Given the description of an element on the screen output the (x, y) to click on. 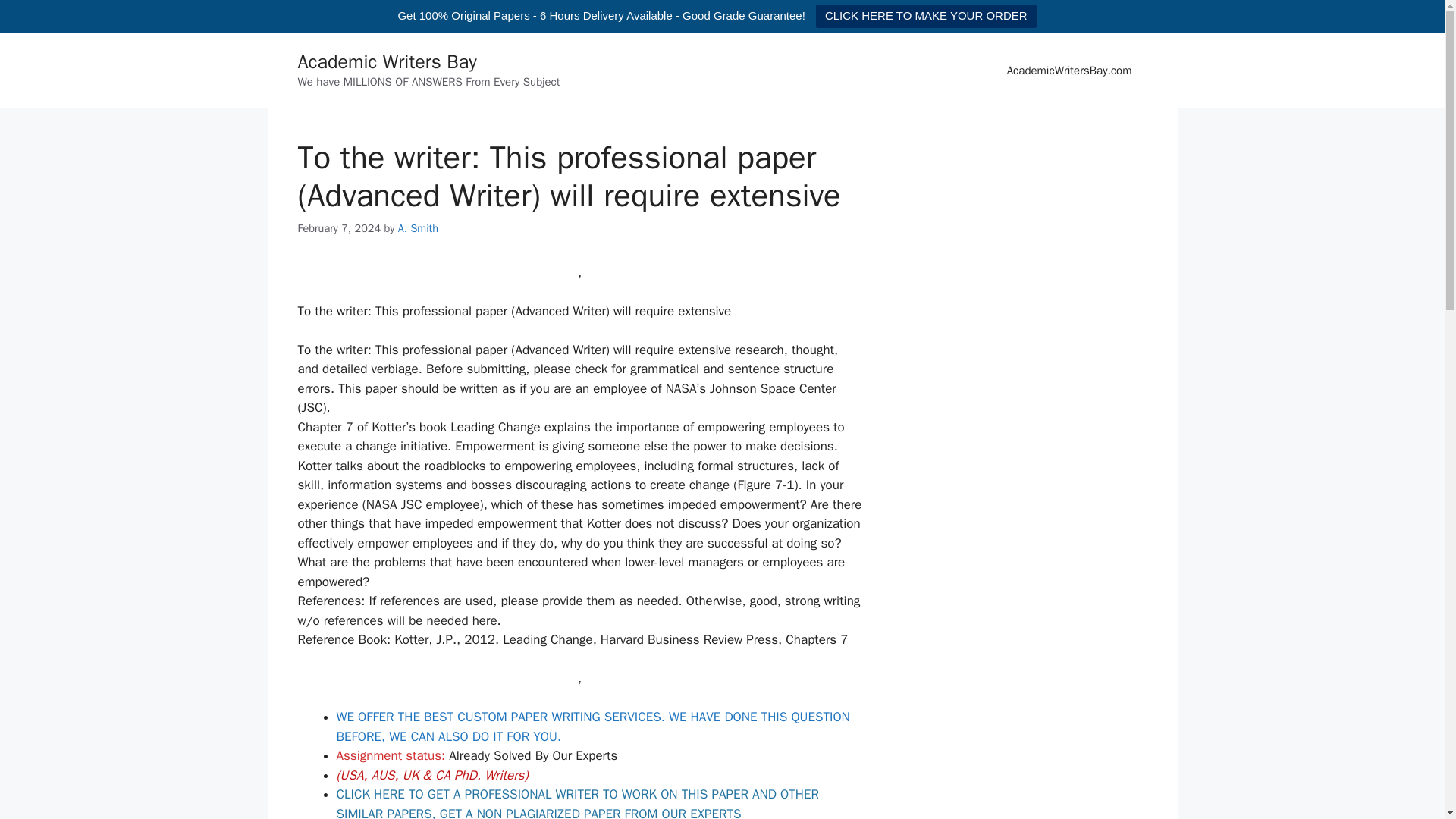
AcademicWritersBay.com (1069, 70)
Academic Writers Bay (386, 61)
CLICK HERE TO MAKE YOUR ORDER (925, 15)
A. Smith (417, 228)
View all posts by A. Smith (417, 228)
